Given the description of an element on the screen output the (x, y) to click on. 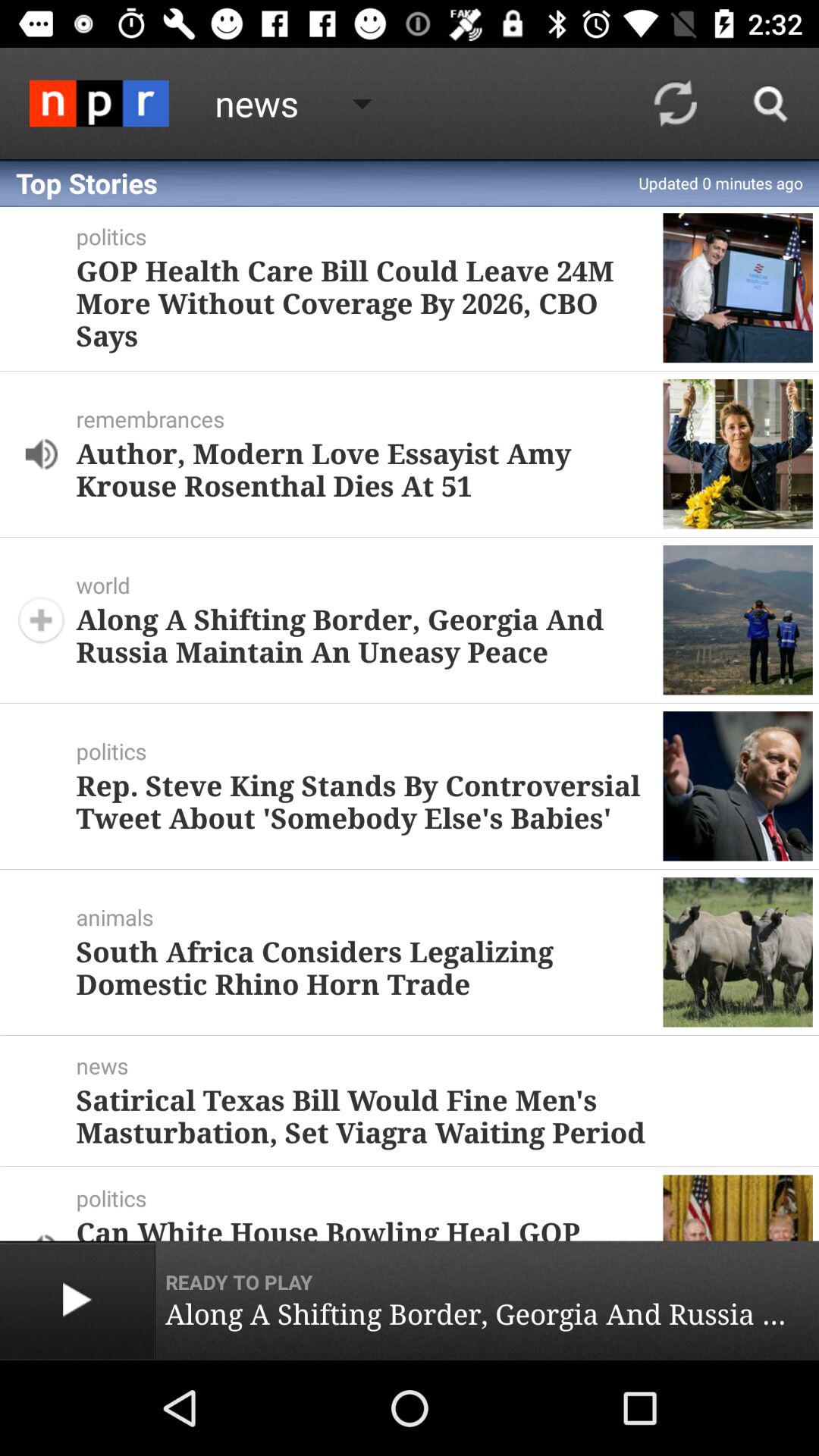
choose icon above author modern love item (369, 418)
